Given the description of an element on the screen output the (x, y) to click on. 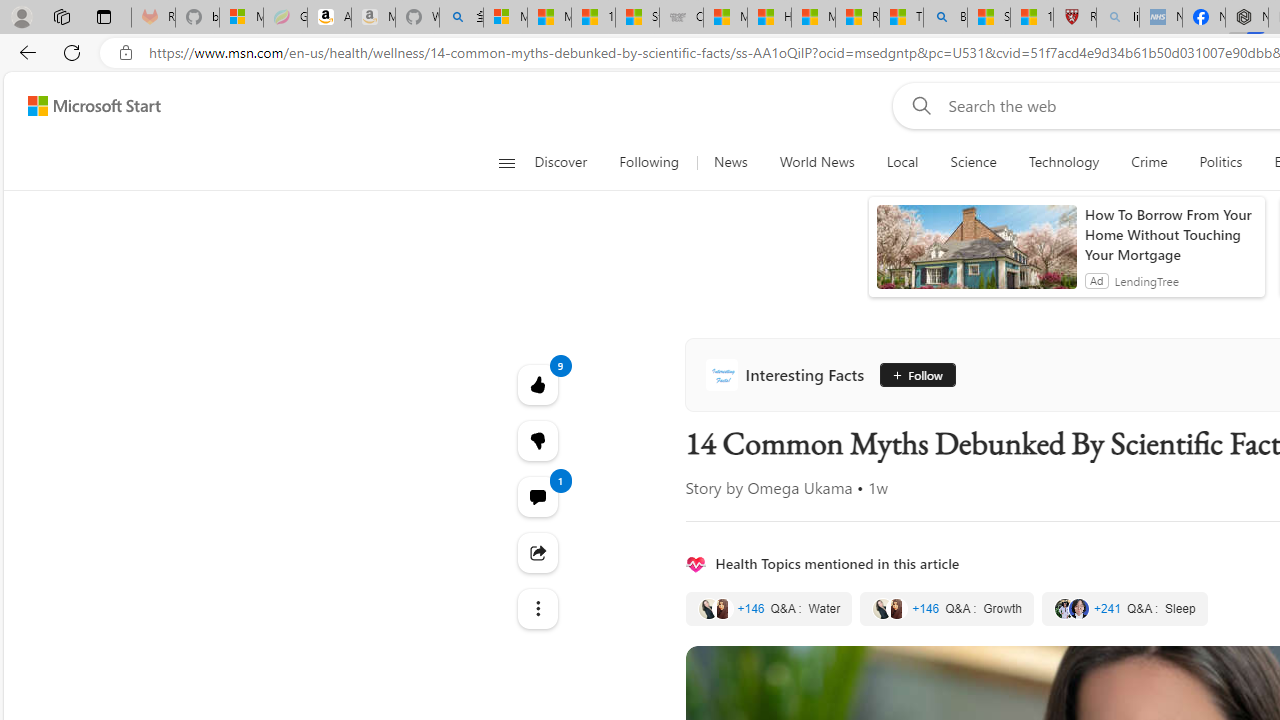
Bing (945, 17)
Combat Siege (681, 17)
Open navigation menu (506, 162)
